Given the description of an element on the screen output the (x, y) to click on. 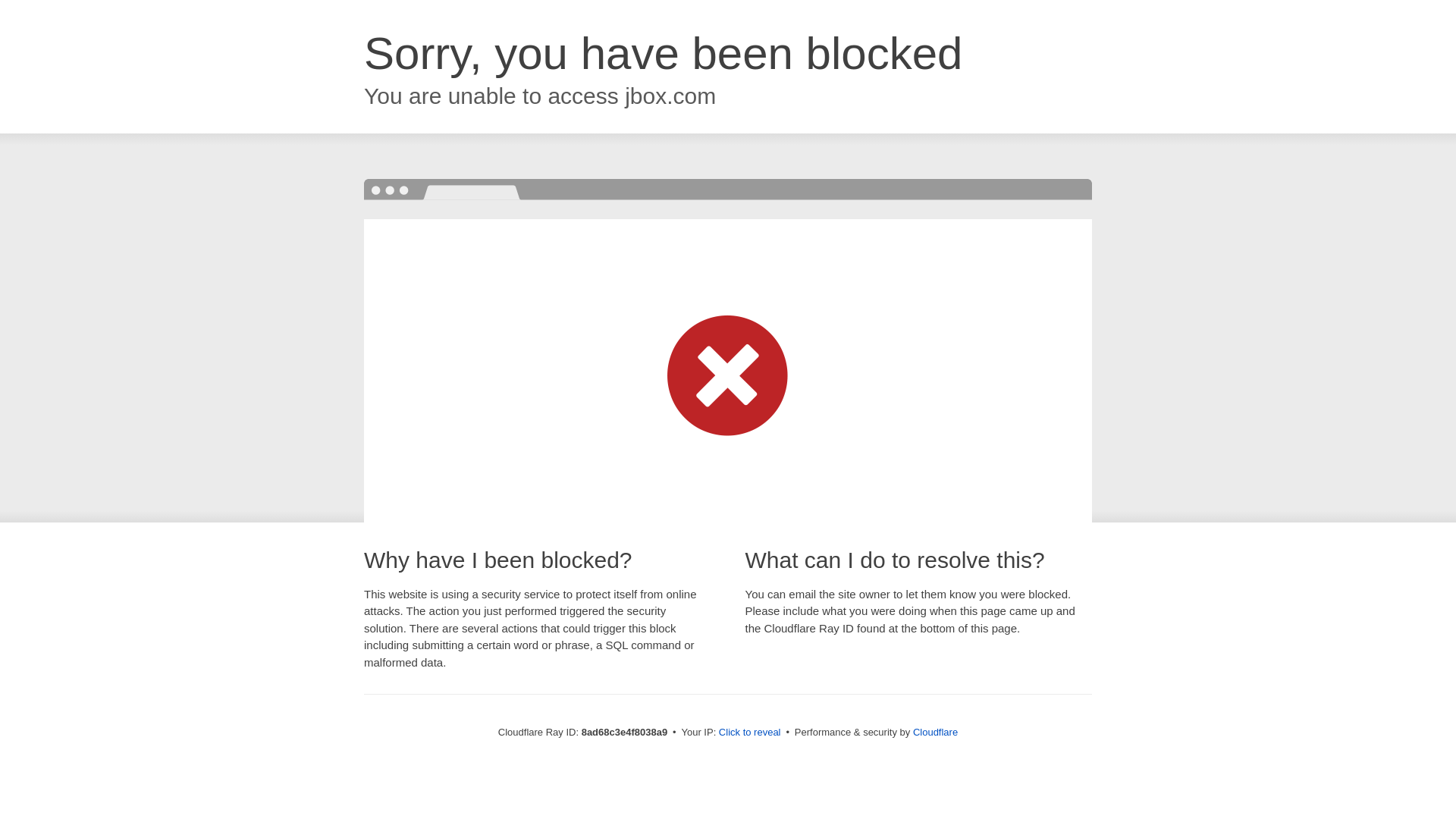
Click to reveal (749, 732)
Cloudflare (935, 731)
